Given the description of an element on the screen output the (x, y) to click on. 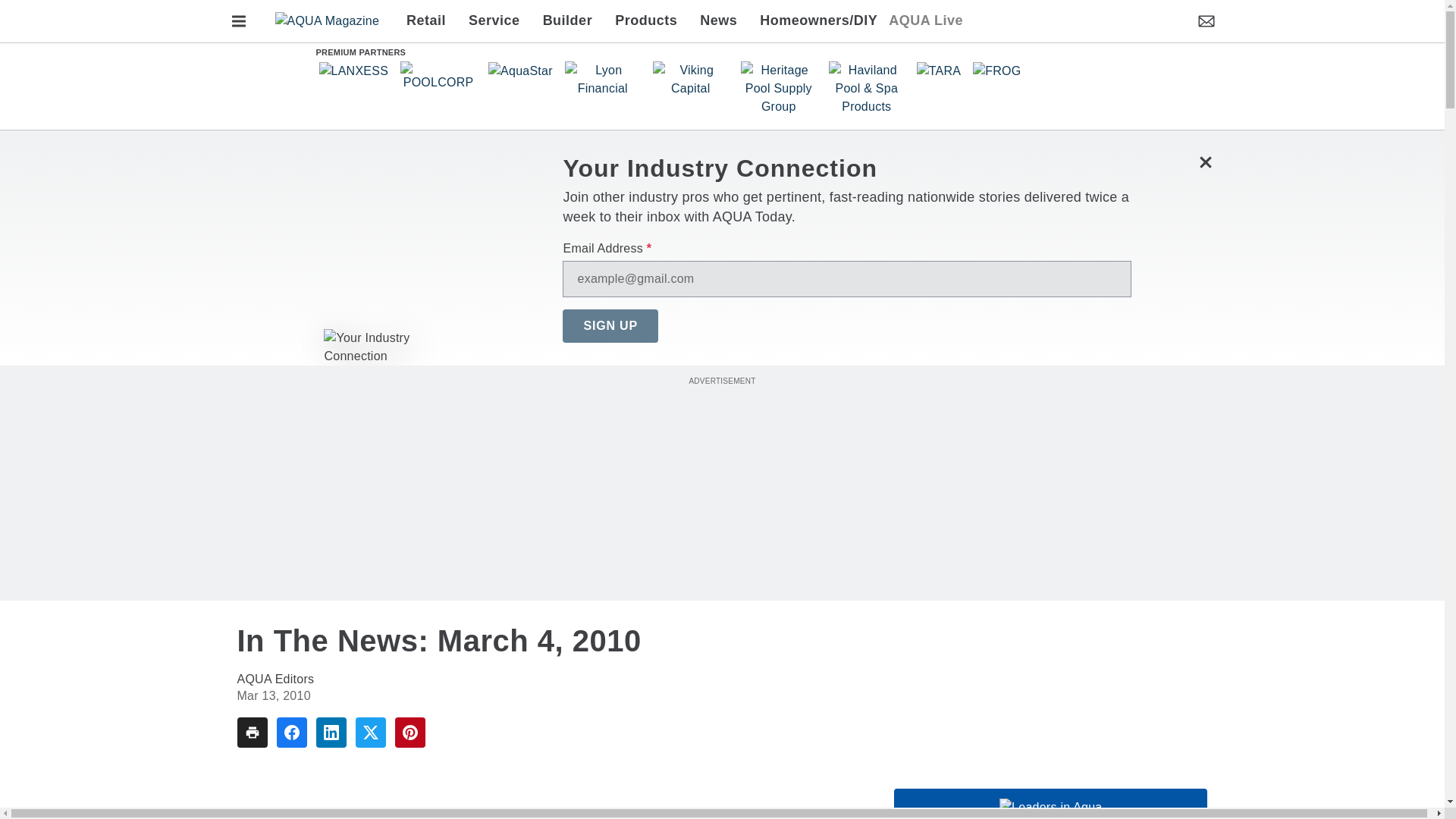
LANXESS (353, 70)
AQUA Live (925, 21)
Products (646, 21)
News (718, 21)
Builder (567, 21)
Service (494, 21)
AquaStar (520, 70)
POOLCORP (438, 76)
Retail (431, 21)
